Given the description of an element on the screen output the (x, y) to click on. 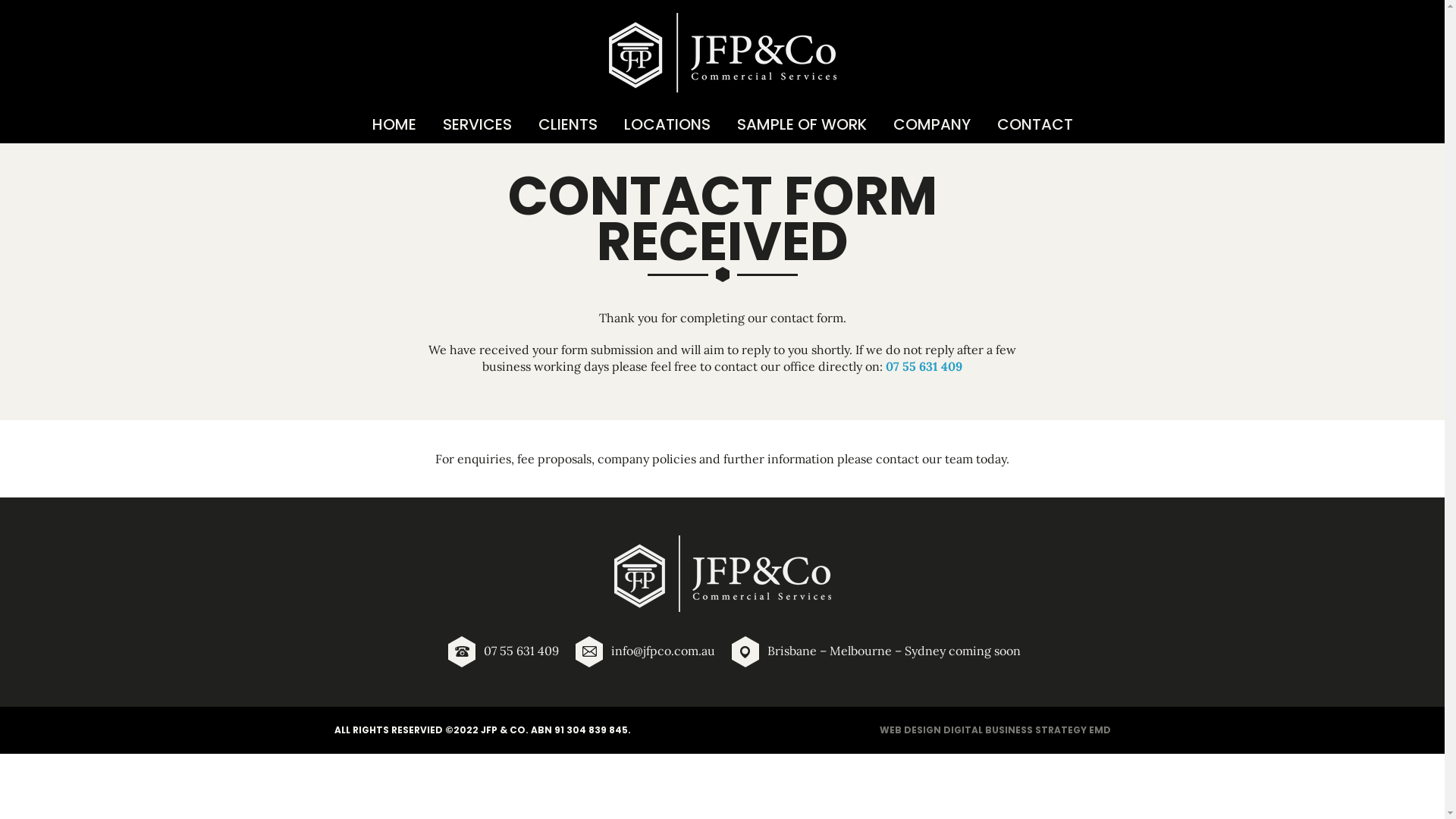
CONTACT Element type: text (1034, 123)
CLIENTS Element type: text (567, 123)
07 55 631 409 Element type: text (923, 365)
COMPANY Element type: text (931, 123)
info@jfpco.com.au Element type: text (663, 649)
SERVICES Element type: text (476, 123)
SAMPLE OF WORK Element type: text (800, 123)
WEB DESIGN DIGITAL BUSINESS STRATEGY EMD Element type: text (994, 729)
JFP & CO. ABN 91 304 839 845 Element type: text (553, 729)
LOCATIONS Element type: text (666, 123)
07 55 631 409 Element type: text (520, 649)
HOME Element type: text (393, 123)
